Given the description of an element on the screen output the (x, y) to click on. 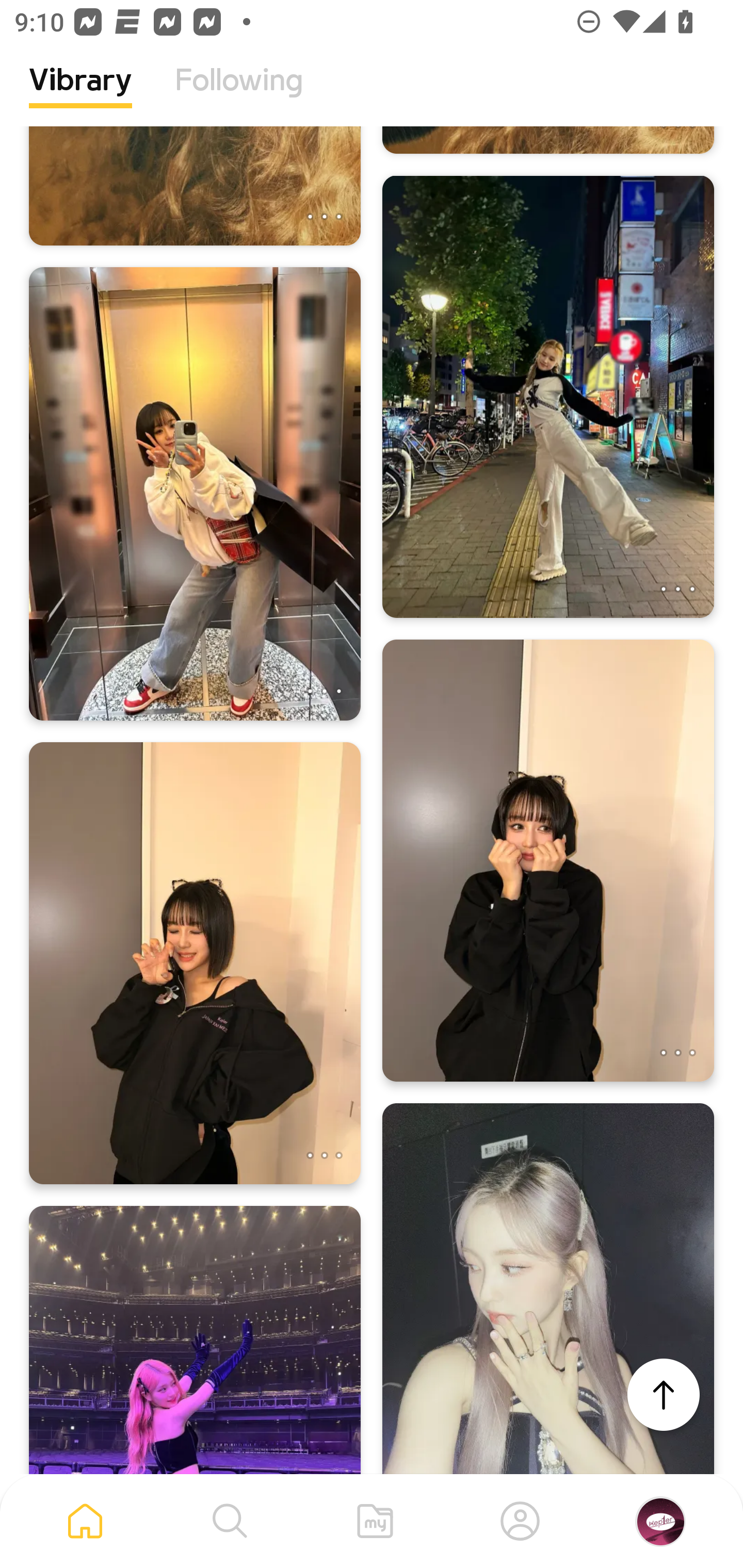
Vibrary (80, 95)
Following (239, 95)
